Given the description of an element on the screen output the (x, y) to click on. 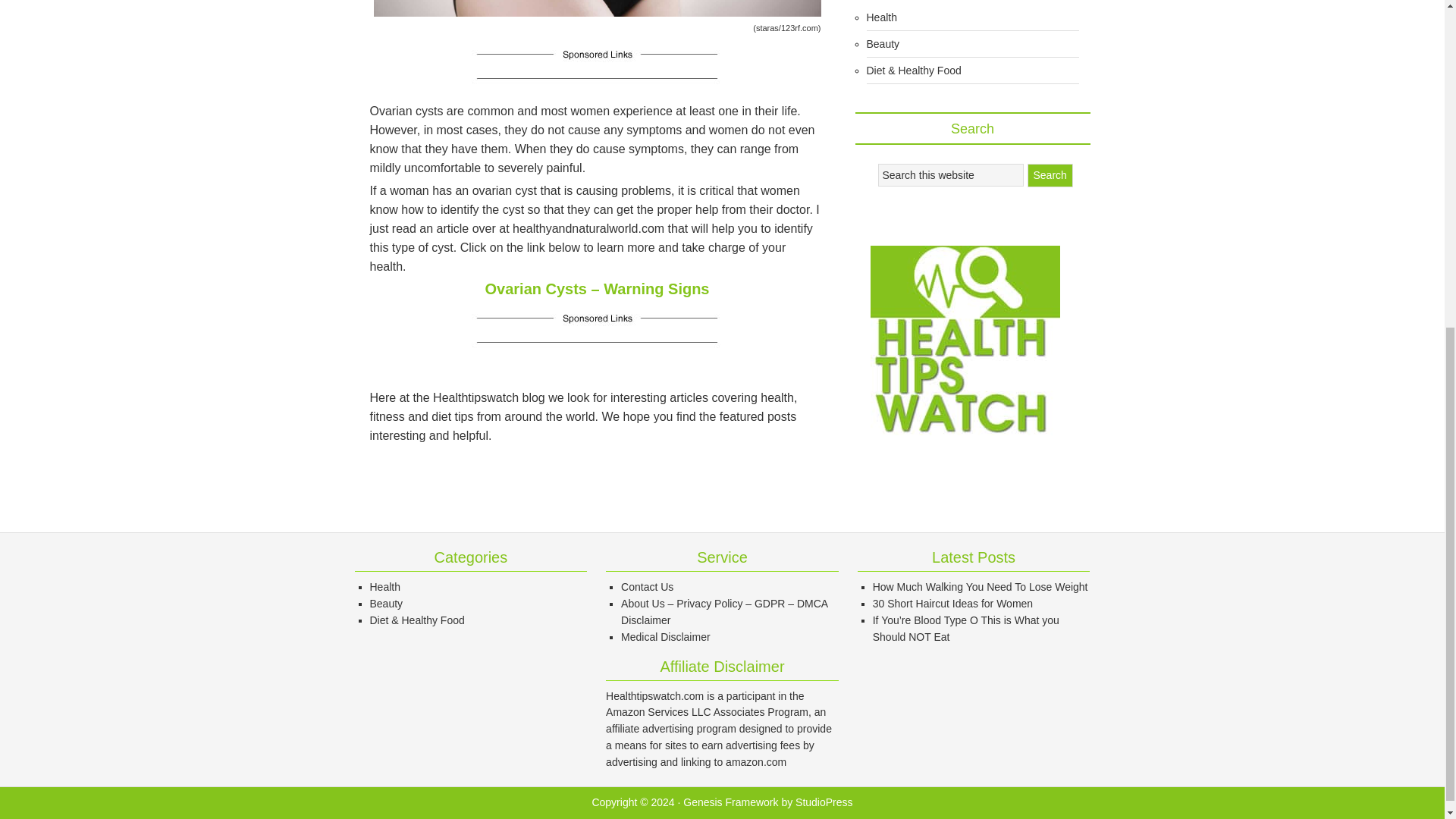
30 Short Haircut Ideas for Women (952, 603)
How Much Walking You Need To Lose Weight (979, 586)
Health (384, 586)
Search (1048, 175)
Health (881, 17)
Search (1048, 175)
Medical Disclaimer (665, 636)
Beauty (386, 603)
Beauty (882, 43)
Search (1048, 175)
Contact Us (646, 586)
